Given the description of an element on the screen output the (x, y) to click on. 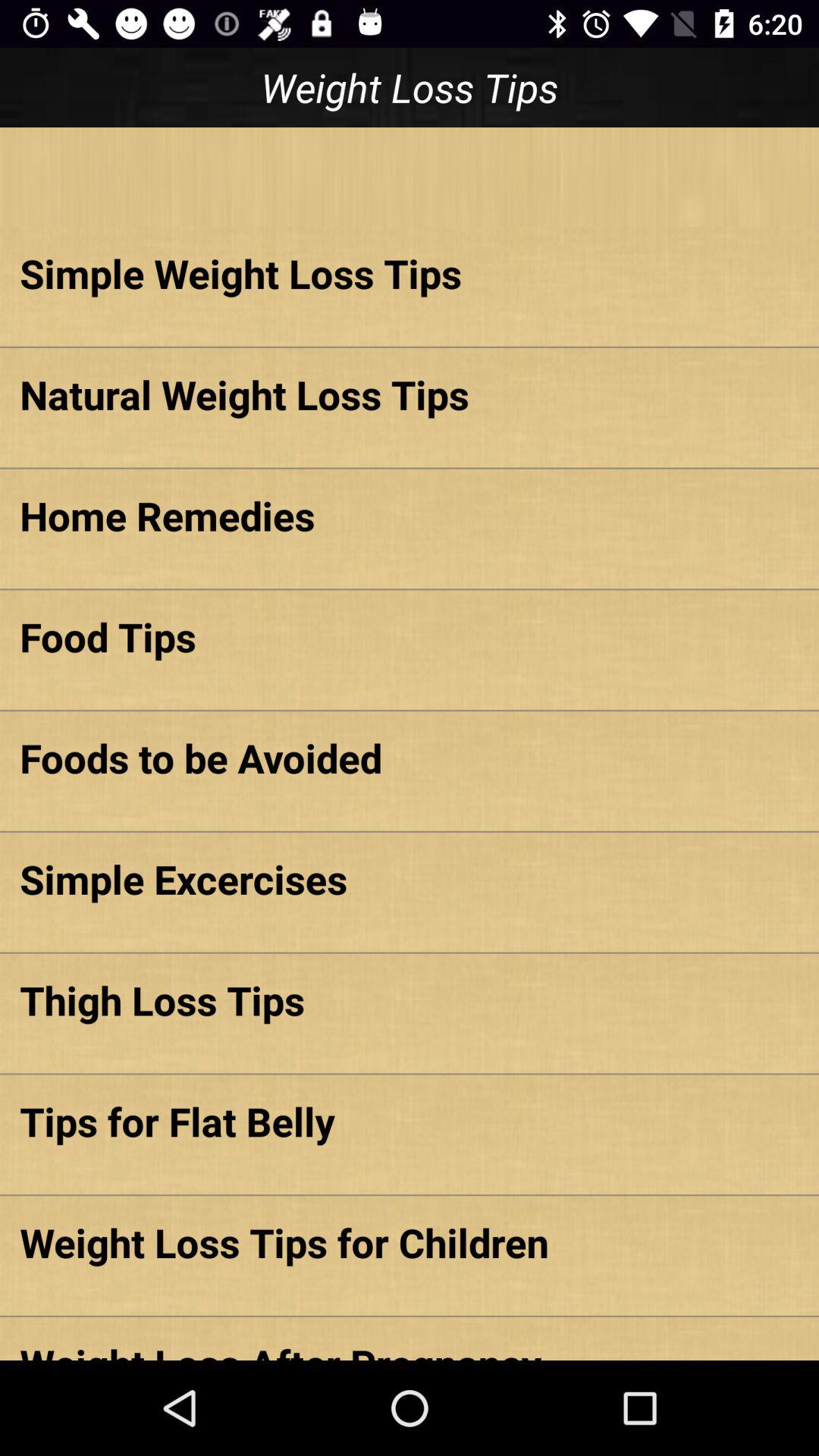
choose the icon above simple excercises item (409, 757)
